Given the description of an element on the screen output the (x, y) to click on. 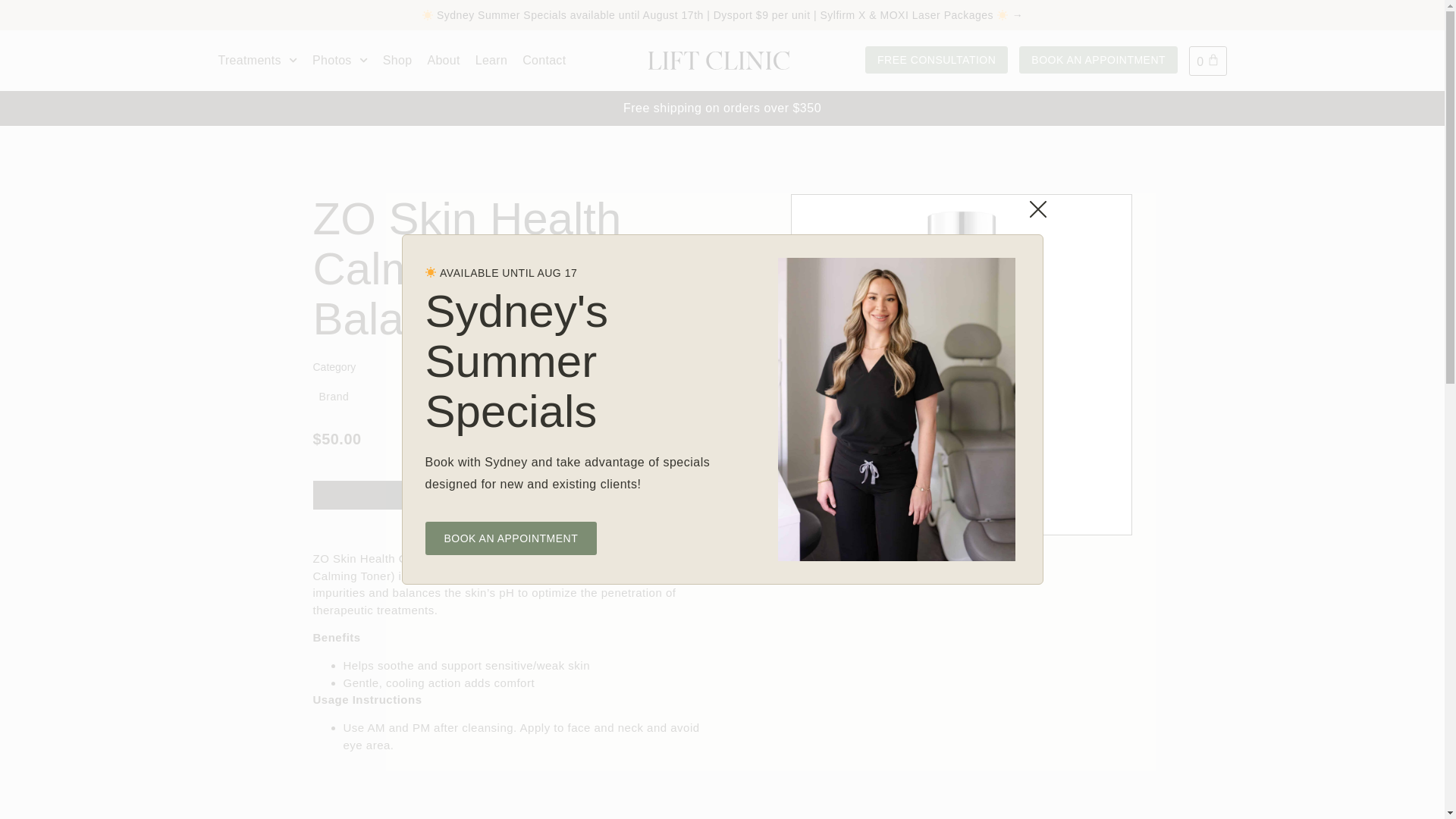
Contact (544, 60)
Shop (397, 60)
Photos (340, 60)
Learn (491, 60)
About (443, 60)
Treatments (258, 60)
